Given the description of an element on the screen output the (x, y) to click on. 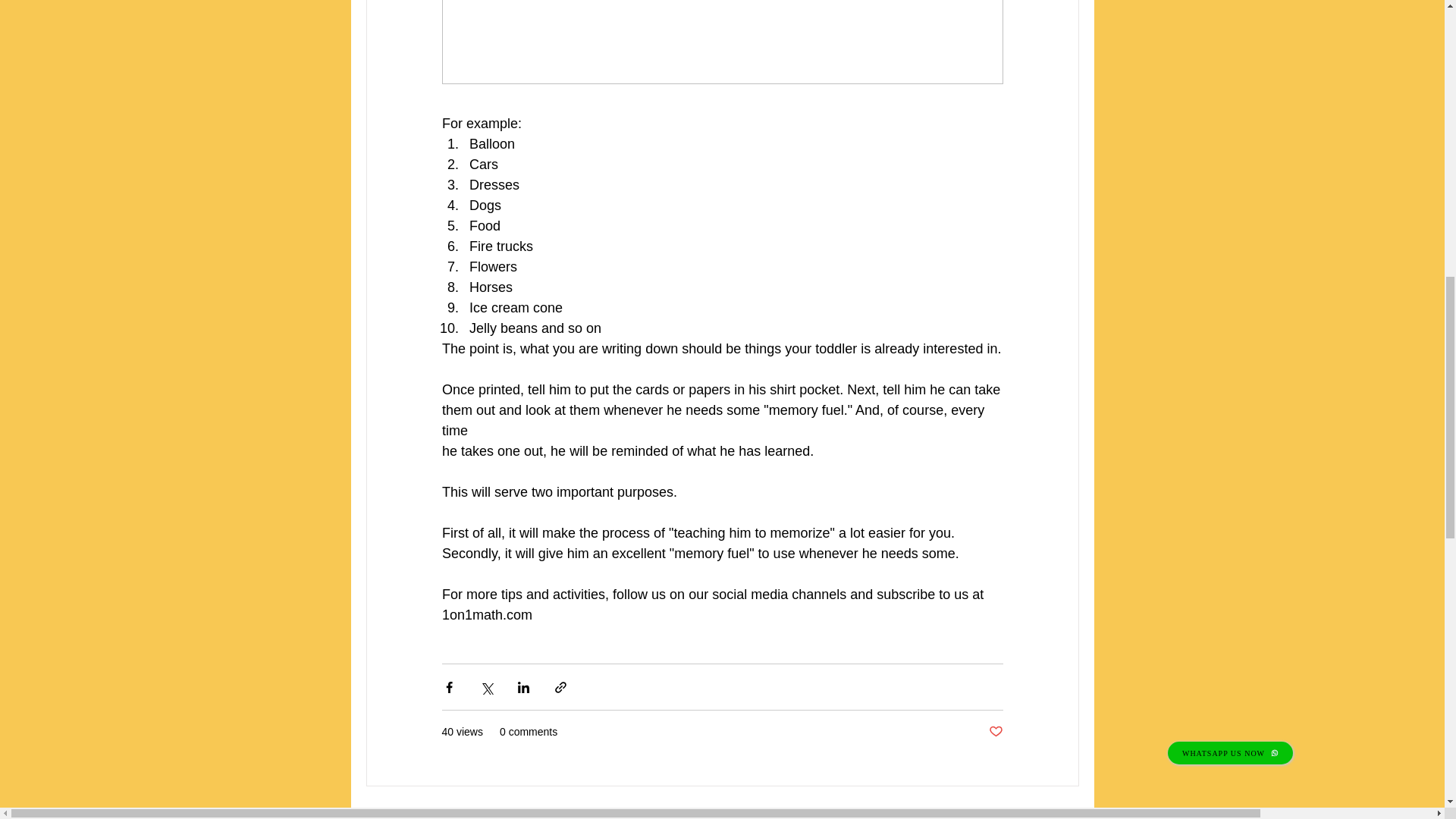
Post not marked as liked (995, 731)
See All (1061, 811)
